Given the description of an element on the screen output the (x, y) to click on. 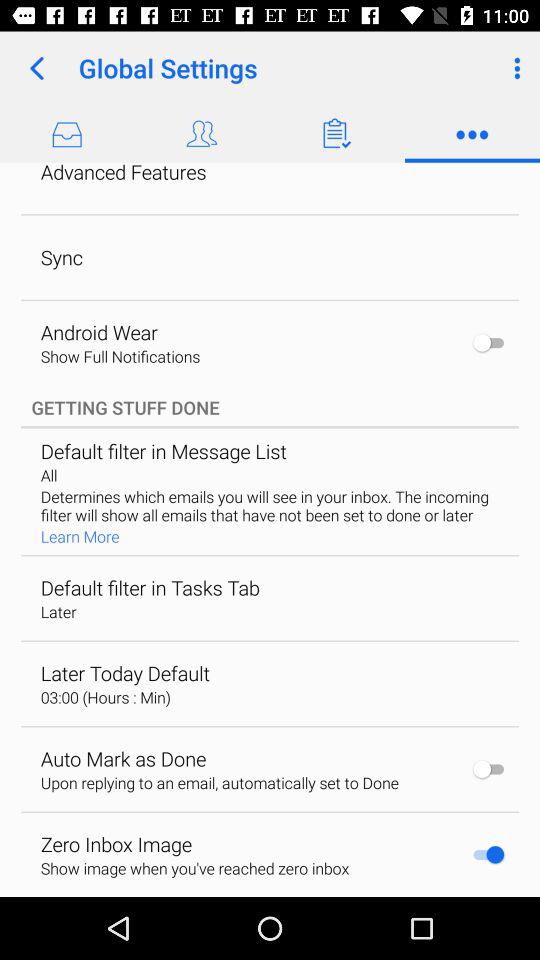
click the icon above getting stuff done app (269, 133)
